Given the description of an element on the screen output the (x, y) to click on. 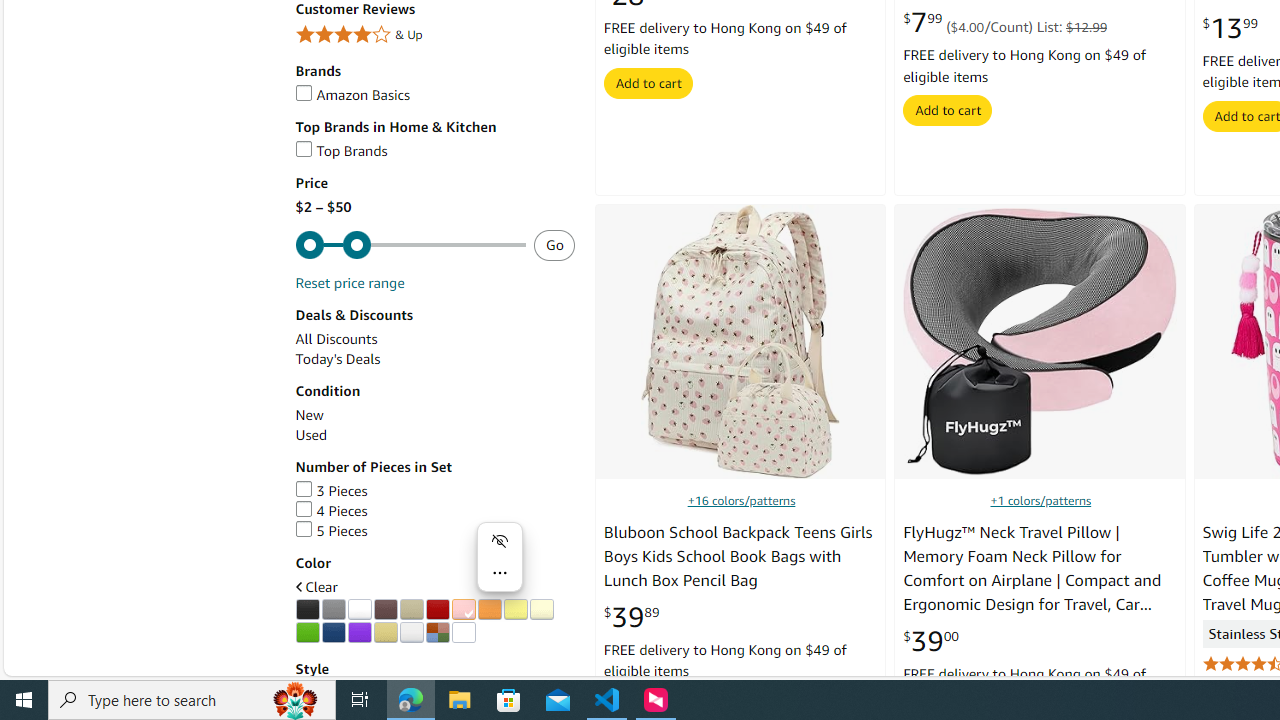
5 Pieces (331, 530)
Maximum (410, 245)
More actions (499, 572)
4 Pieces (434, 511)
Pink (463, 609)
Blue (333, 632)
Minimum (410, 245)
Used (310, 435)
Yellow (515, 609)
AutomationID: p_n_feature_twenty_browse-bin/3254111011 (385, 632)
Green (307, 632)
AutomationID: p_n_feature_twenty_browse-bin/3254100011 (359, 609)
Mini menu on text selection (499, 556)
Beige (411, 609)
